Given the description of an element on the screen output the (x, y) to click on. 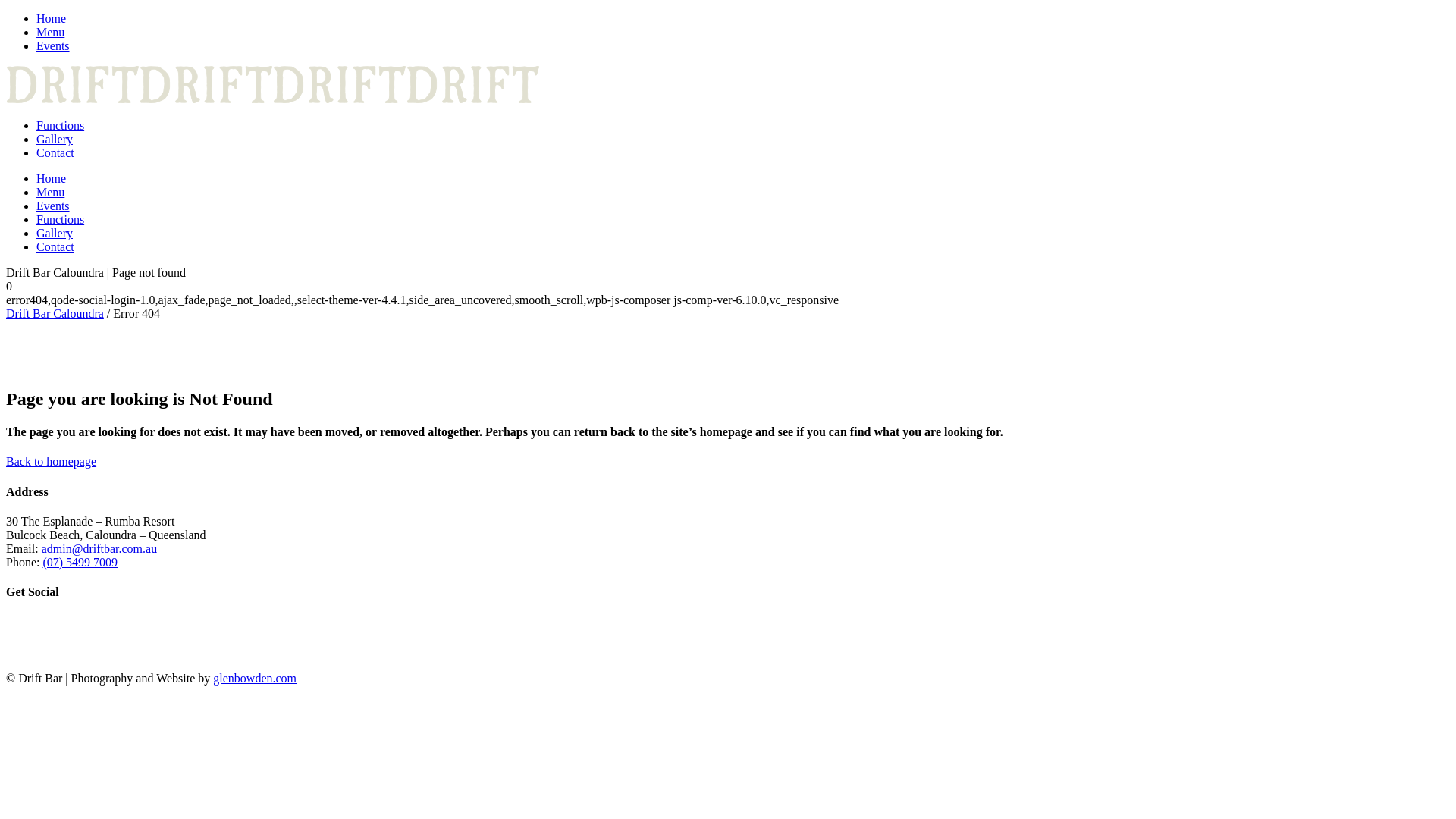
glenbowden.com Element type: text (254, 677)
Contact Element type: text (55, 246)
Menu Element type: text (50, 191)
Functions Element type: text (60, 125)
Events Element type: text (52, 205)
(07) 5499 7009 Element type: text (79, 561)
Events Element type: text (52, 45)
Drift Bar Caloundra Element type: text (54, 313)
Contact Element type: text (55, 152)
Menu Element type: text (50, 31)
Back to homepage Element type: text (51, 461)
admin@driftbar.com.au Element type: text (98, 548)
Gallery Element type: text (54, 232)
Gallery Element type: text (54, 138)
Home Element type: text (50, 18)
Functions Element type: text (60, 219)
Home Element type: text (50, 178)
